Given the description of an element on the screen output the (x, y) to click on. 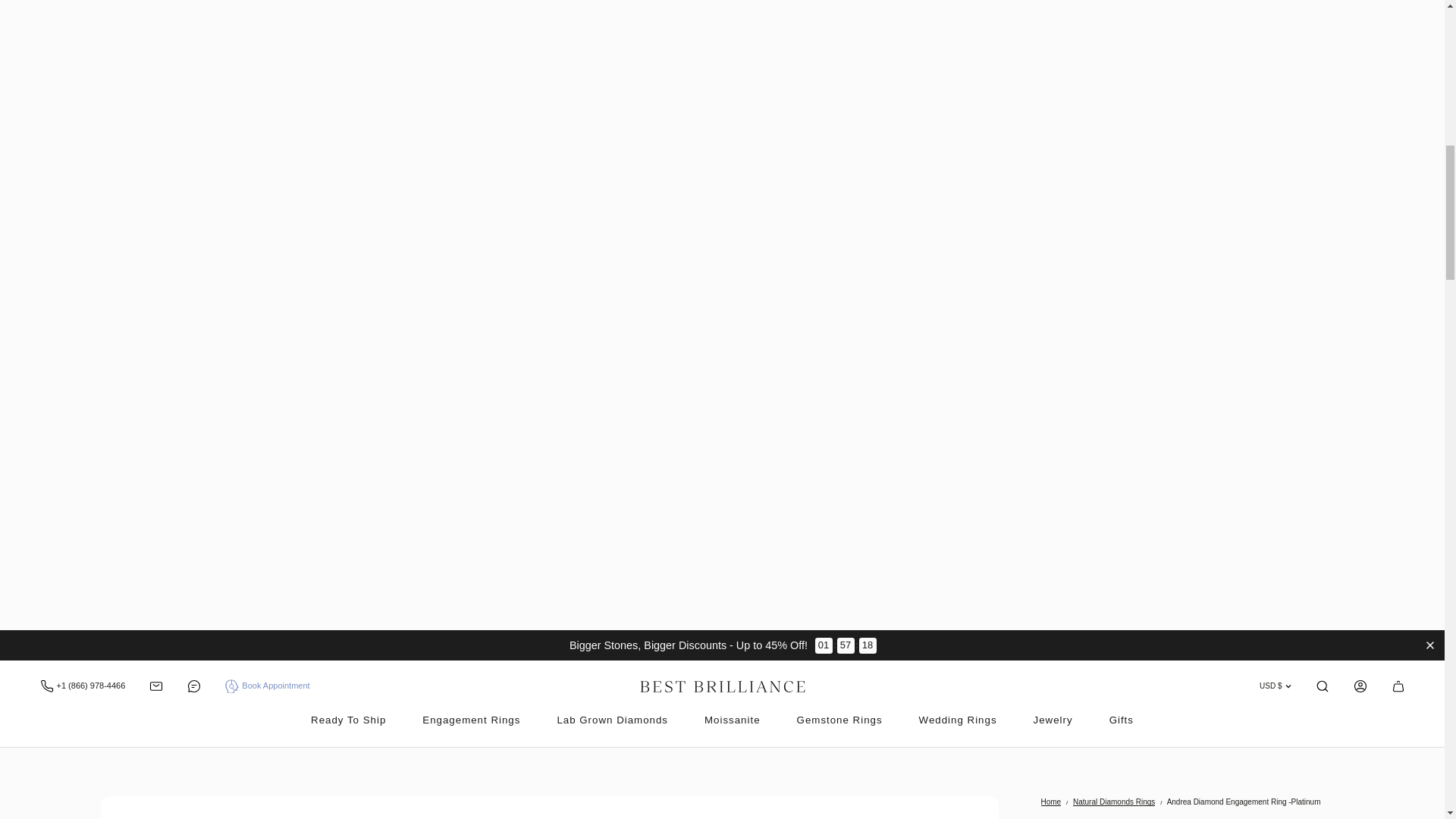
Open account page (1359, 685)
Best Brilliance (722, 686)
Home (1051, 801)
Send a message (156, 685)
Ready To Ship (348, 719)
Engagement Rings (470, 719)
Open search (1397, 685)
Best Brilliance (1320, 685)
